Given the description of an element on the screen output the (x, y) to click on. 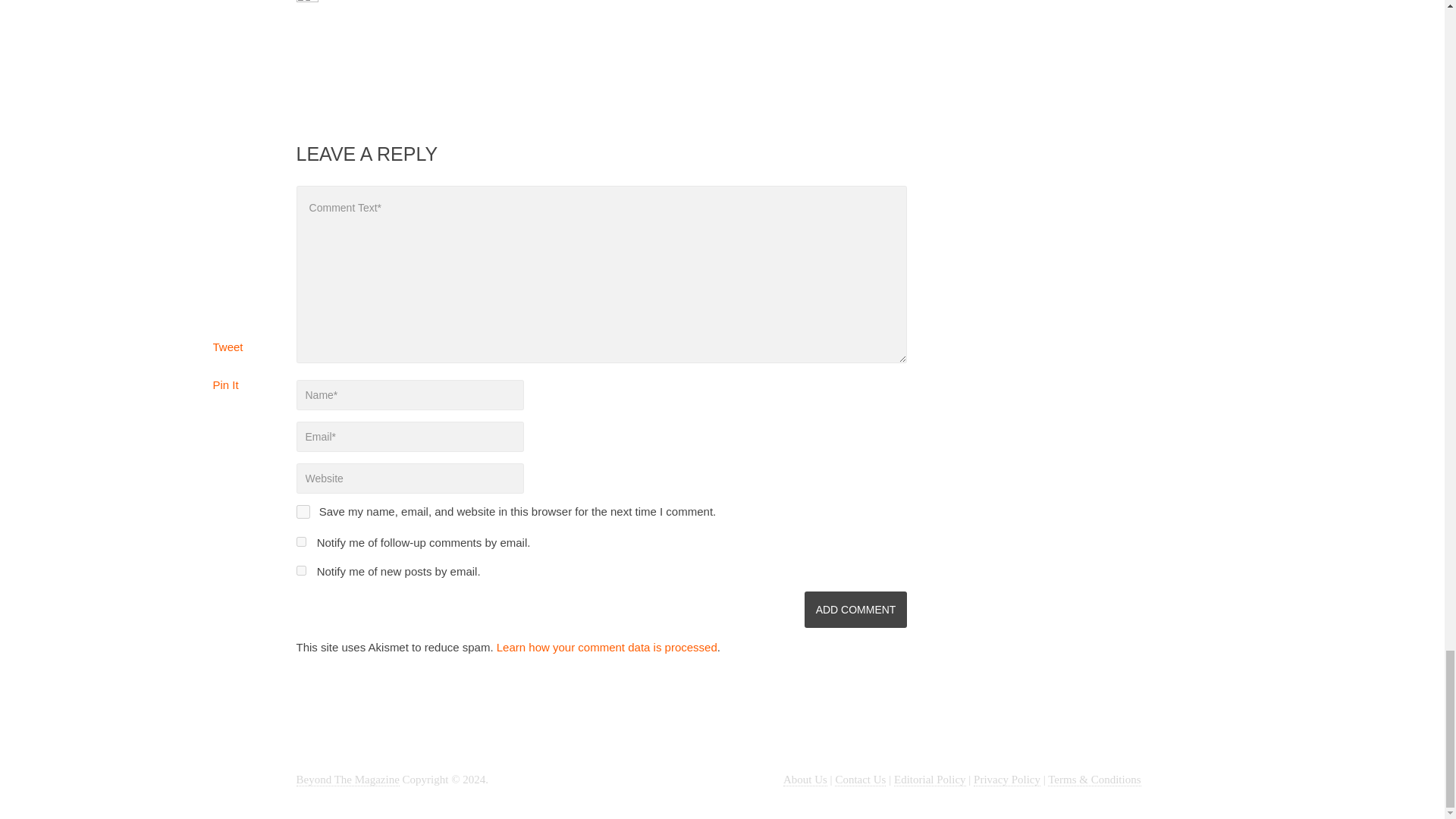
subscribe (300, 542)
Add Comment (856, 609)
subscribe (300, 570)
yes (301, 511)
